Given the description of an element on the screen output the (x, y) to click on. 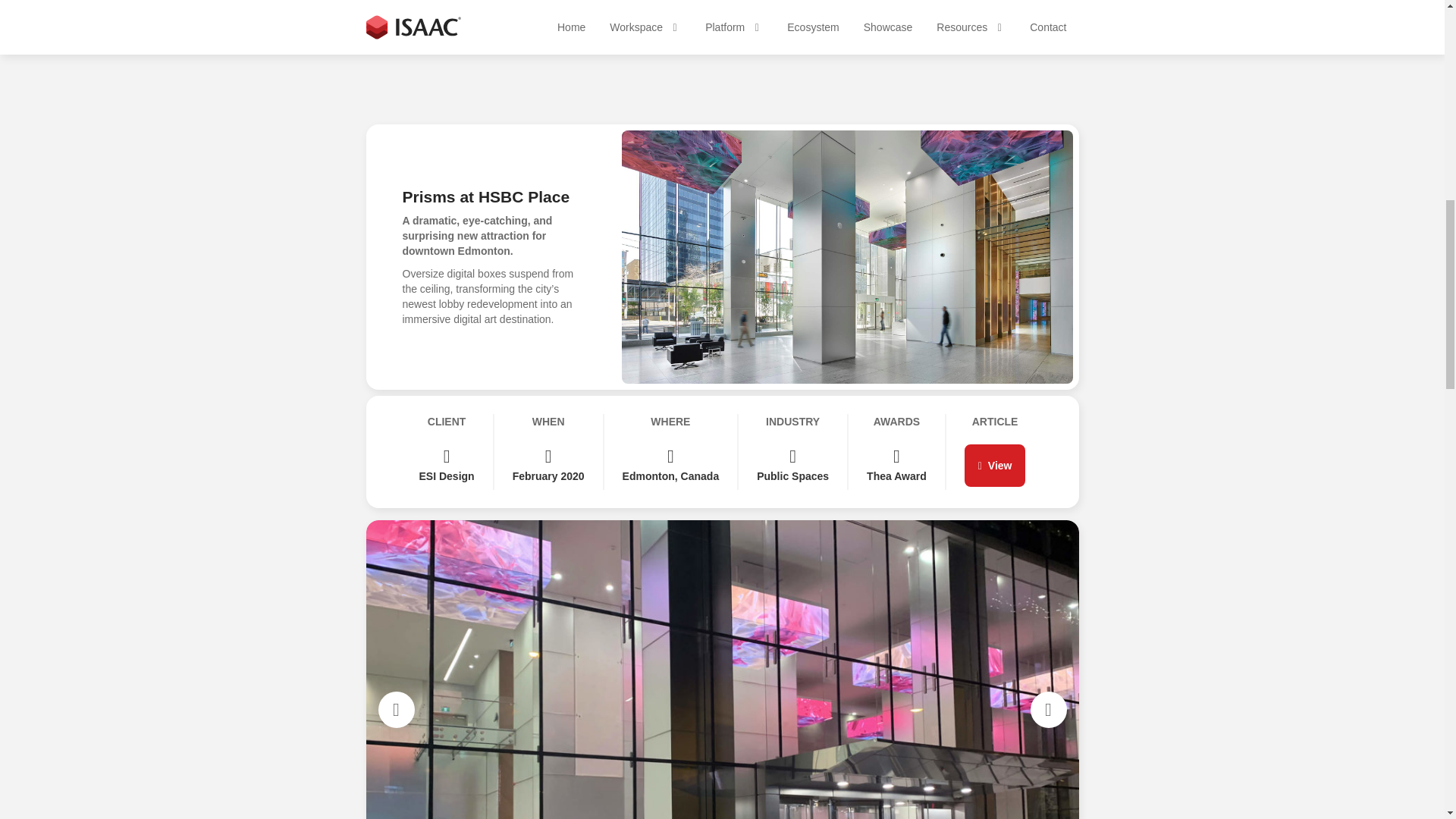
Learn More (1017, 342)
Node-RED (668, 689)
Touch Designer (431, 658)
